Given the description of an element on the screen output the (x, y) to click on. 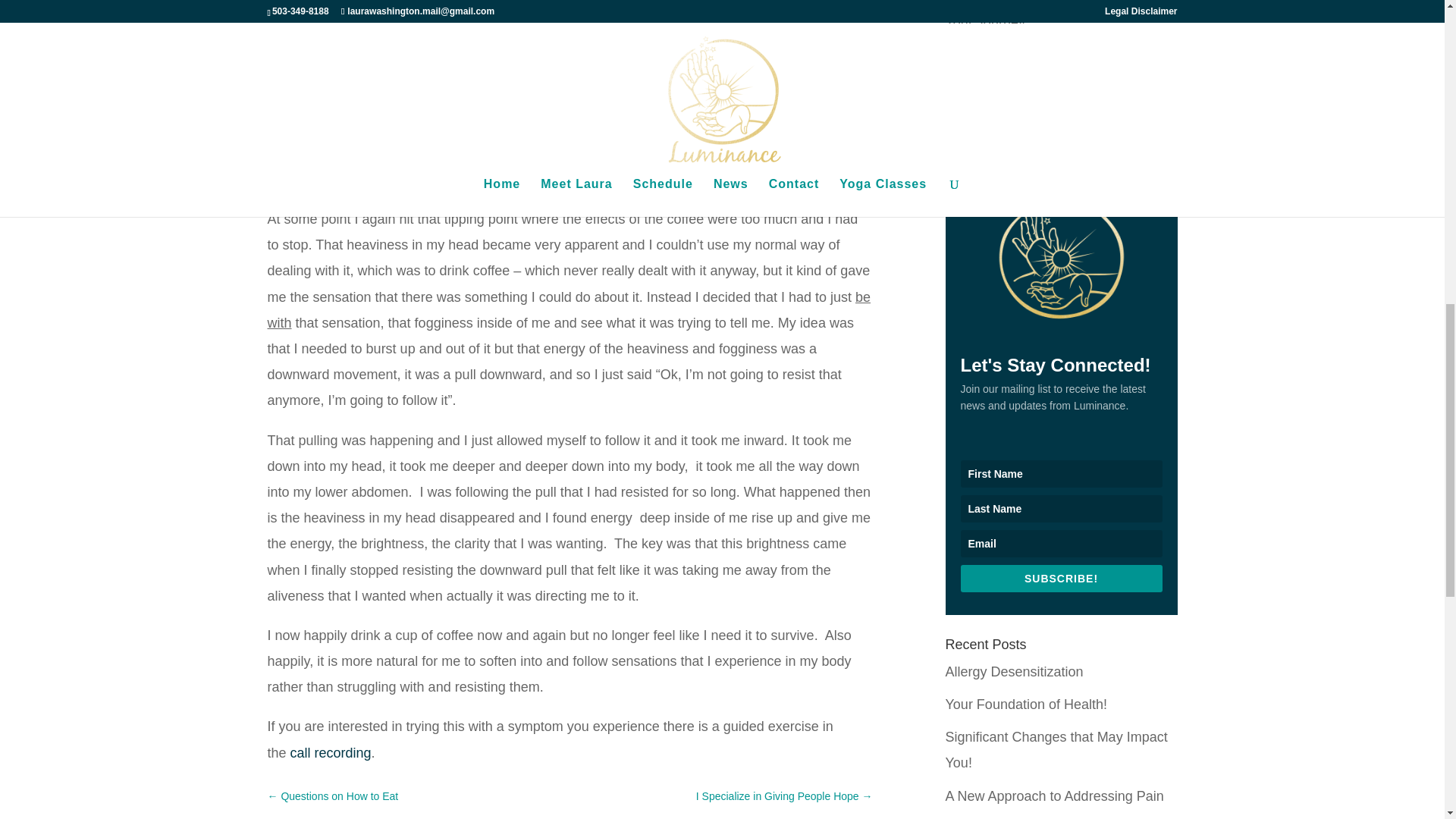
A New Approach to Addressing Pain (1053, 795)
SUBSCRIBE! (1060, 578)
Allergy Desensitization (1013, 671)
Your Foundation of Health! (1025, 703)
Search (1151, 99)
call recording (330, 752)
Search (1151, 99)
Significant Changes that May Impact You! (1055, 749)
